Given the description of an element on the screen output the (x, y) to click on. 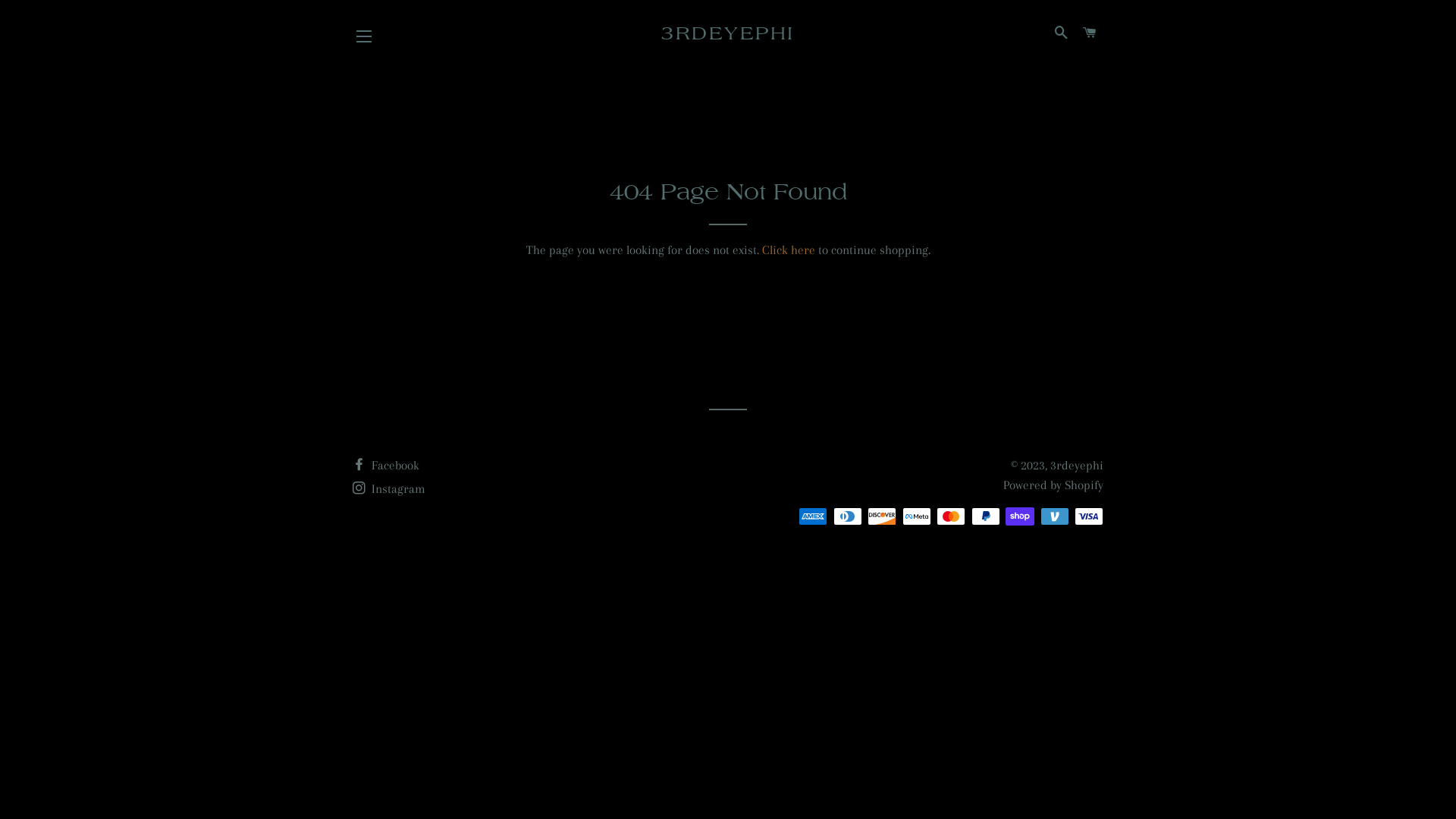
Instagram Element type: text (388, 488)
Click here Element type: text (787, 249)
3RDEYEPHI Element type: text (727, 33)
SITE NAVIGATION Element type: text (363, 36)
3rdeyephi Element type: text (1076, 465)
CART Element type: text (1090, 33)
Facebook Element type: text (385, 465)
SEARCH Element type: text (1060, 33)
Powered by Shopify Element type: text (1053, 484)
